Given the description of an element on the screen output the (x, y) to click on. 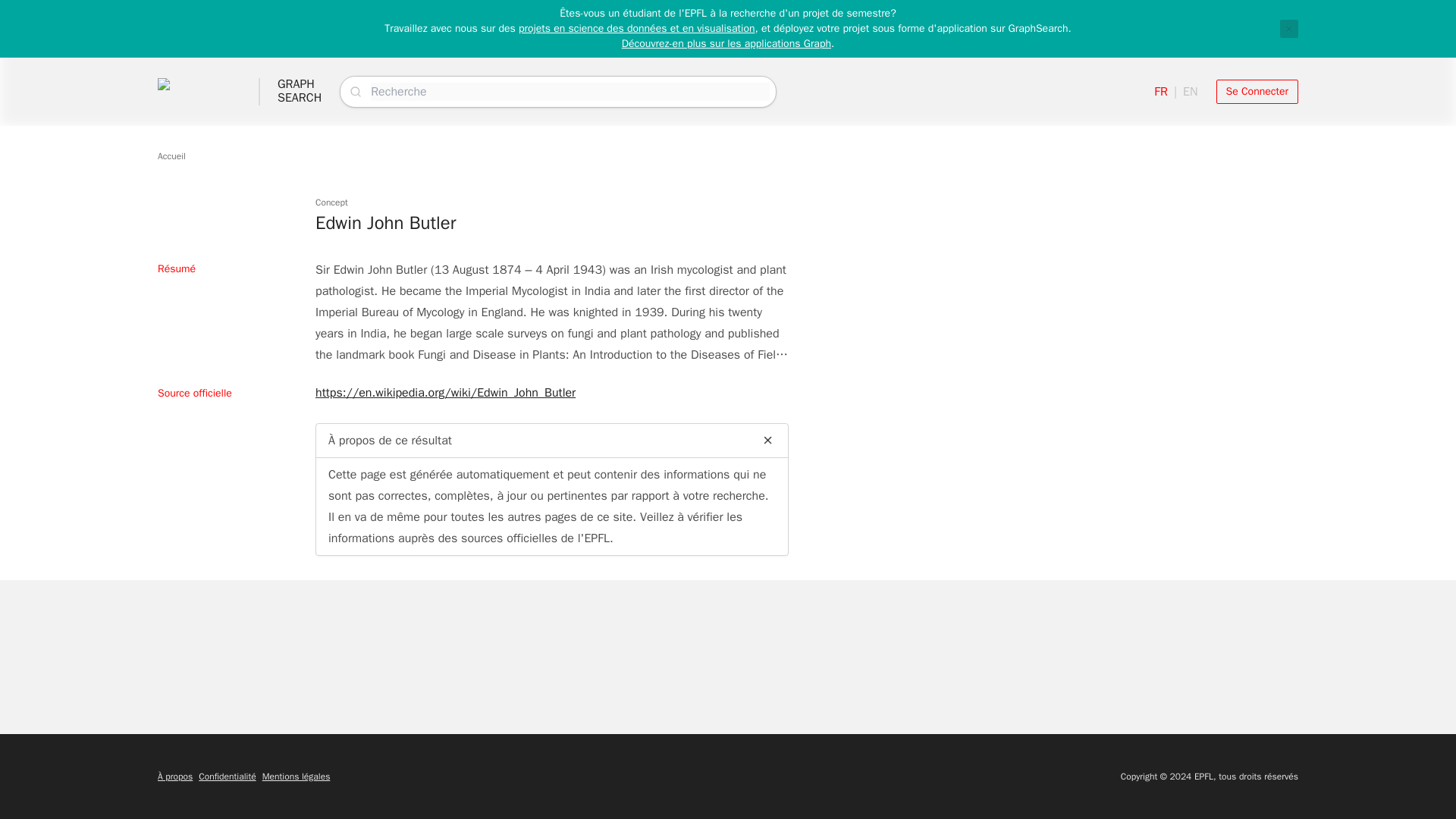
Accueil (171, 155)
Close notification (1288, 28)
Se Connecter (299, 90)
